Given the description of an element on the screen output the (x, y) to click on. 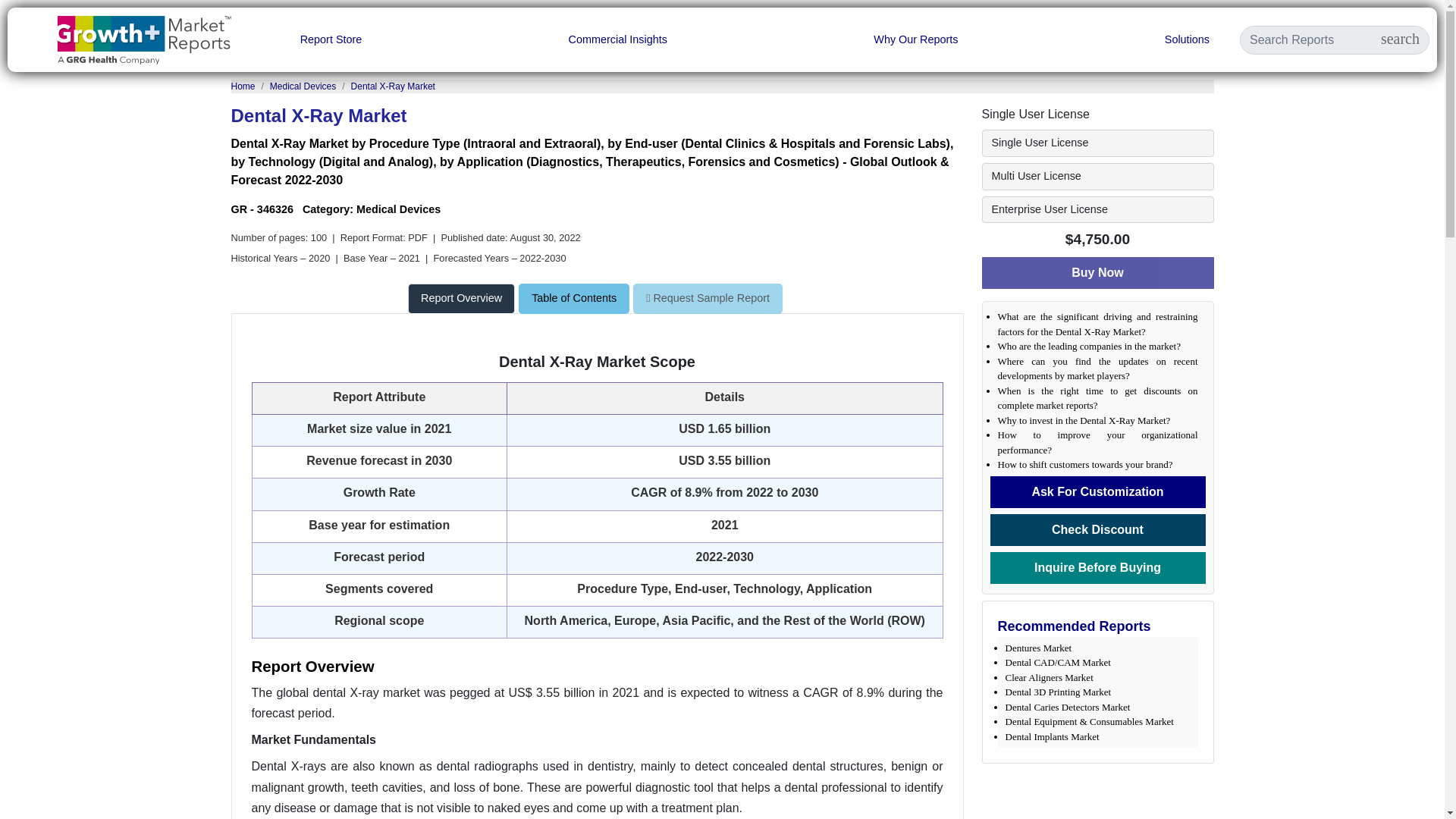
Ask For Customization (1097, 491)
Medical Devices (302, 86)
Report Overview (461, 298)
Dentures Market (1038, 647)
Home (242, 86)
Commercial Insights (617, 39)
Dental Caries Detectors Market (1068, 706)
Check Discount (1097, 530)
Report Overview (462, 297)
Dental Implants Market (1052, 736)
Request Sample Report (708, 298)
search (1400, 39)
Solutions (1186, 39)
Buy Now (1096, 273)
Dental 3D Printing Market (1059, 691)
